Given the description of an element on the screen output the (x, y) to click on. 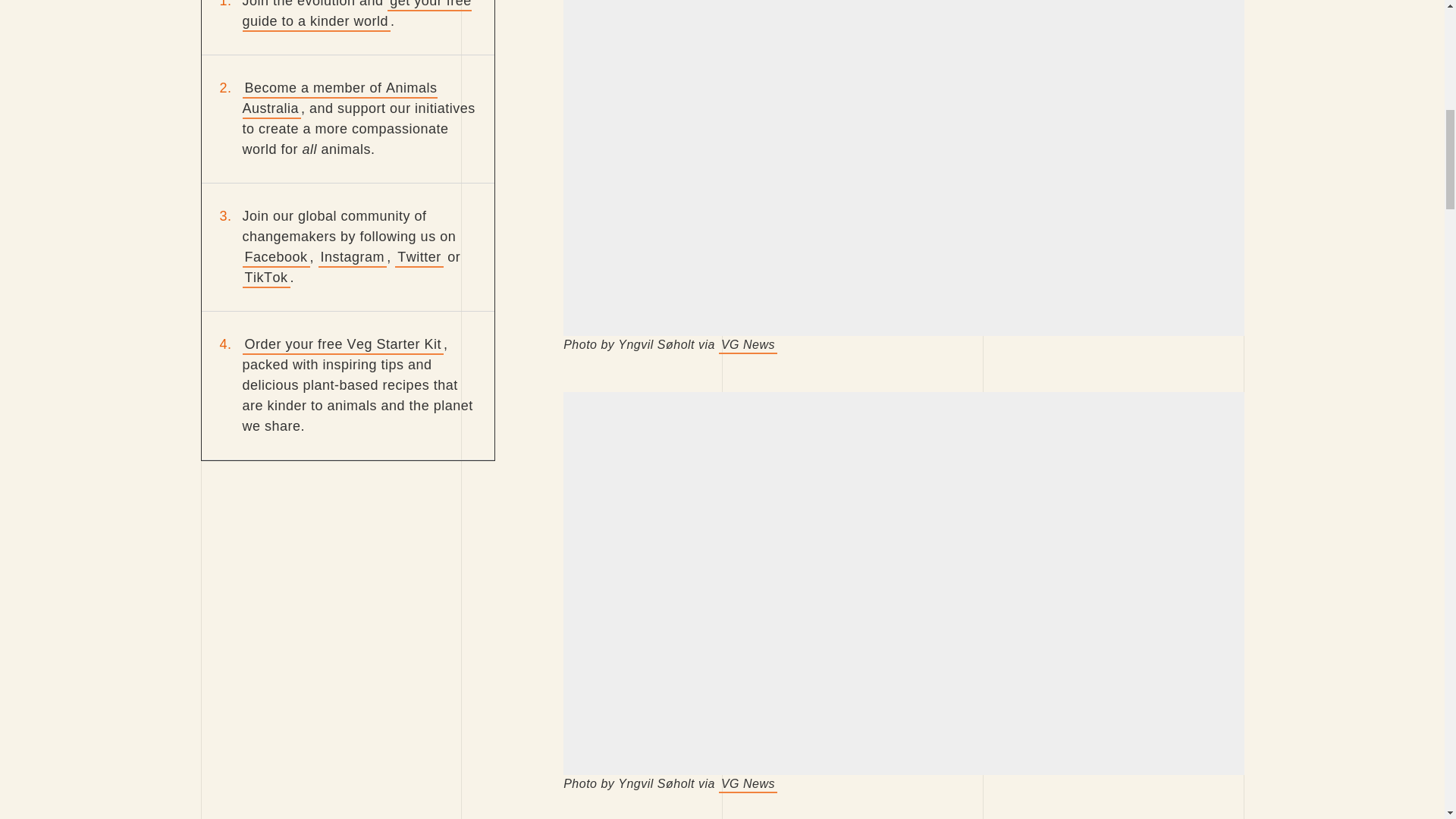
VG News (748, 344)
Order your free Veg Starter Kit (343, 344)
Instagram (352, 257)
TikTok (266, 278)
Become a member of Animals Australia (340, 98)
Facebook (276, 257)
Twitter (419, 257)
VG News (748, 784)
get your free guide to a kinder world (357, 15)
